Given the description of an element on the screen output the (x, y) to click on. 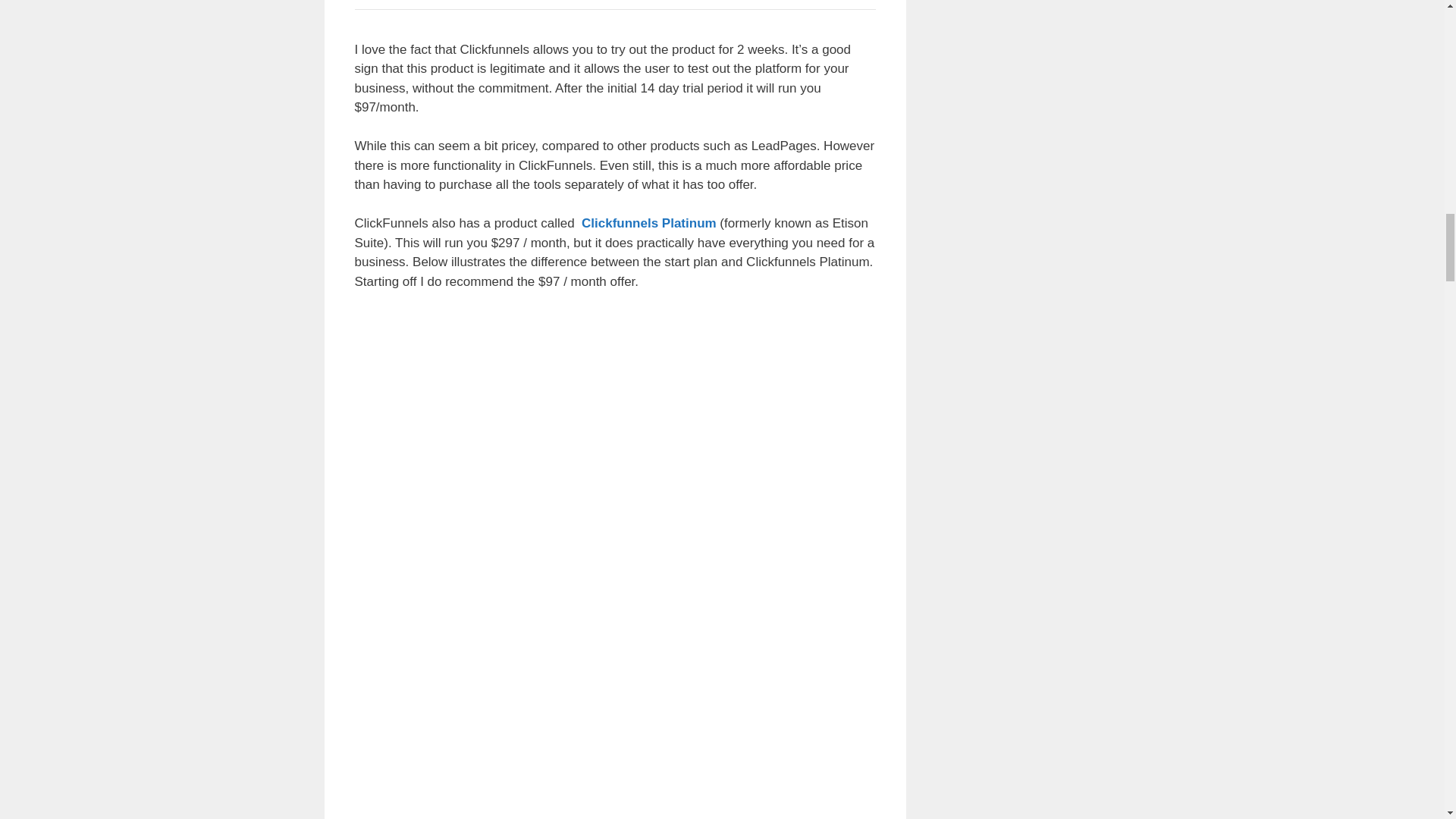
Clickfunnels Platinum (648, 223)
